Given the description of an element on the screen output the (x, y) to click on. 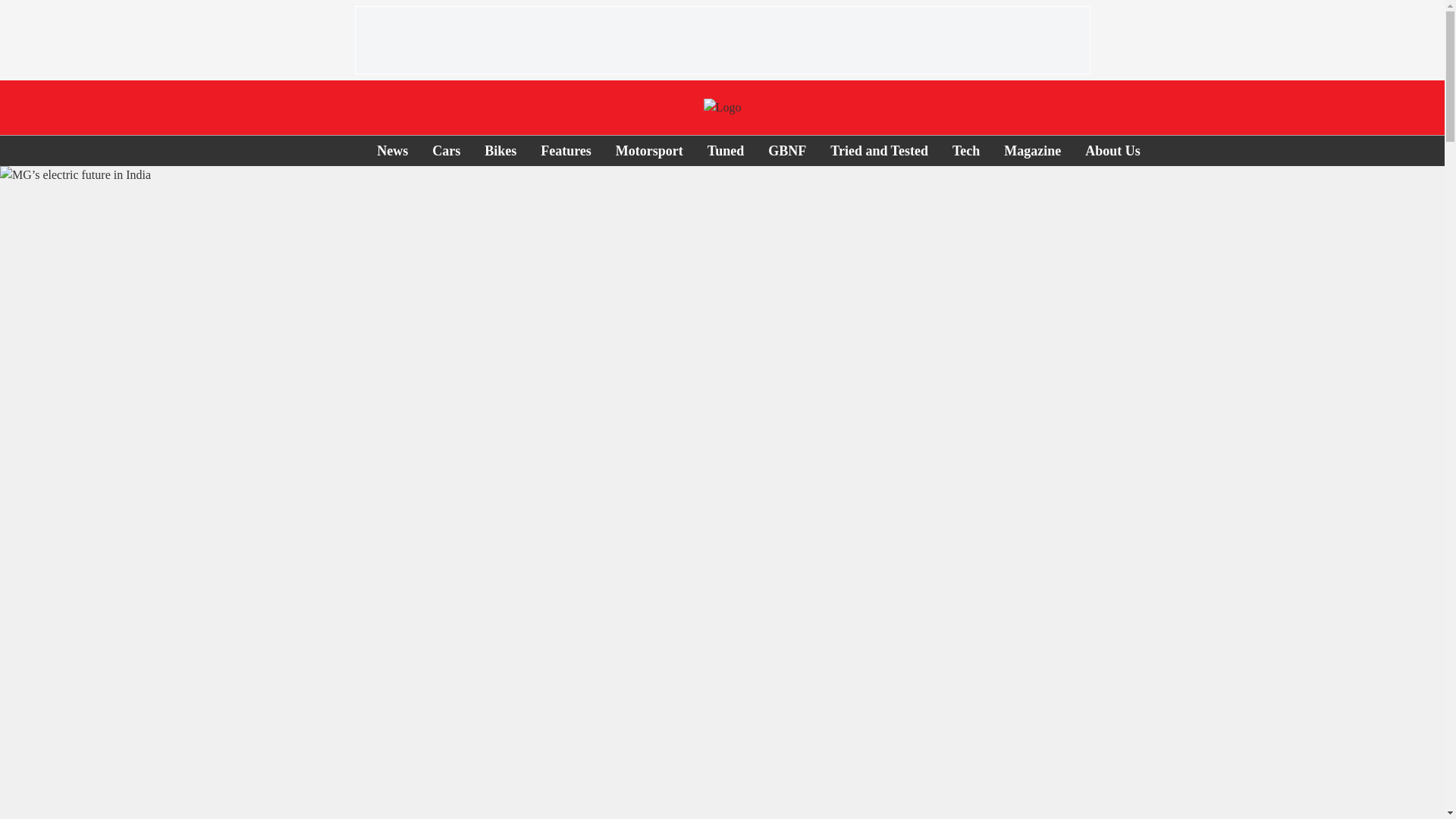
News (392, 150)
Cars (446, 150)
Tech (965, 150)
Tried and Tested (878, 150)
Bikes (500, 150)
GBNF (787, 150)
Motorsport (648, 150)
Tuned (725, 150)
Magazine (1032, 150)
Features (565, 150)
